Given the description of an element on the screen output the (x, y) to click on. 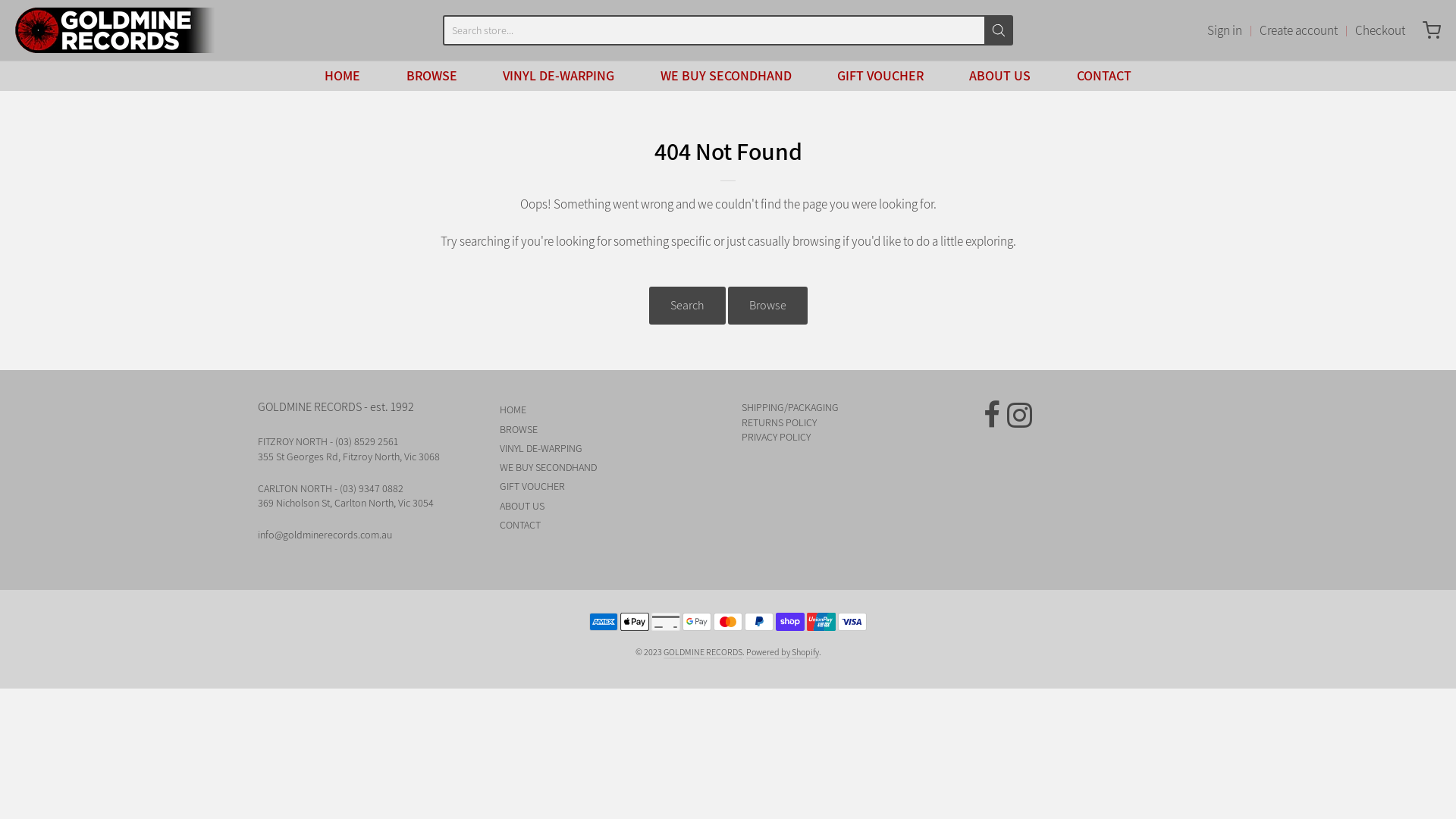
PRIVACY POLICY Element type: text (775, 436)
WE BUY SECONDHAND Element type: text (724, 75)
ABOUT US Element type: text (999, 75)
GOLDMINE RECORDS Element type: hover (115, 30)
GIFT VOUCHER Element type: text (880, 75)
HOME Element type: text (342, 75)
BROWSE Element type: text (606, 429)
Checkout Element type: text (1380, 30)
Powered by Shopify Element type: text (782, 652)
HOME Element type: text (606, 409)
Search Element type: text (687, 305)
SHIPPING/PACKAGING Element type: text (789, 407)
Browse Element type: text (767, 305)
VINYL DE-WARPING Element type: text (606, 448)
GOLDMINE RECORDS Element type: text (701, 652)
RETURNS POLICY Element type: text (778, 422)
ABOUT US Element type: text (606, 505)
CONTACT Element type: text (1103, 75)
Sign in Element type: text (1224, 30)
WE BUY SECONDHAND Element type: text (606, 467)
GIFT VOUCHER Element type: text (606, 485)
Create account Element type: text (1298, 30)
BROWSE Element type: text (431, 75)
CONTACT Element type: text (606, 524)
info@goldminerecords.com.au Element type: text (324, 534)
VINYL DE-WARPING Element type: text (558, 75)
